Given the description of an element on the screen output the (x, y) to click on. 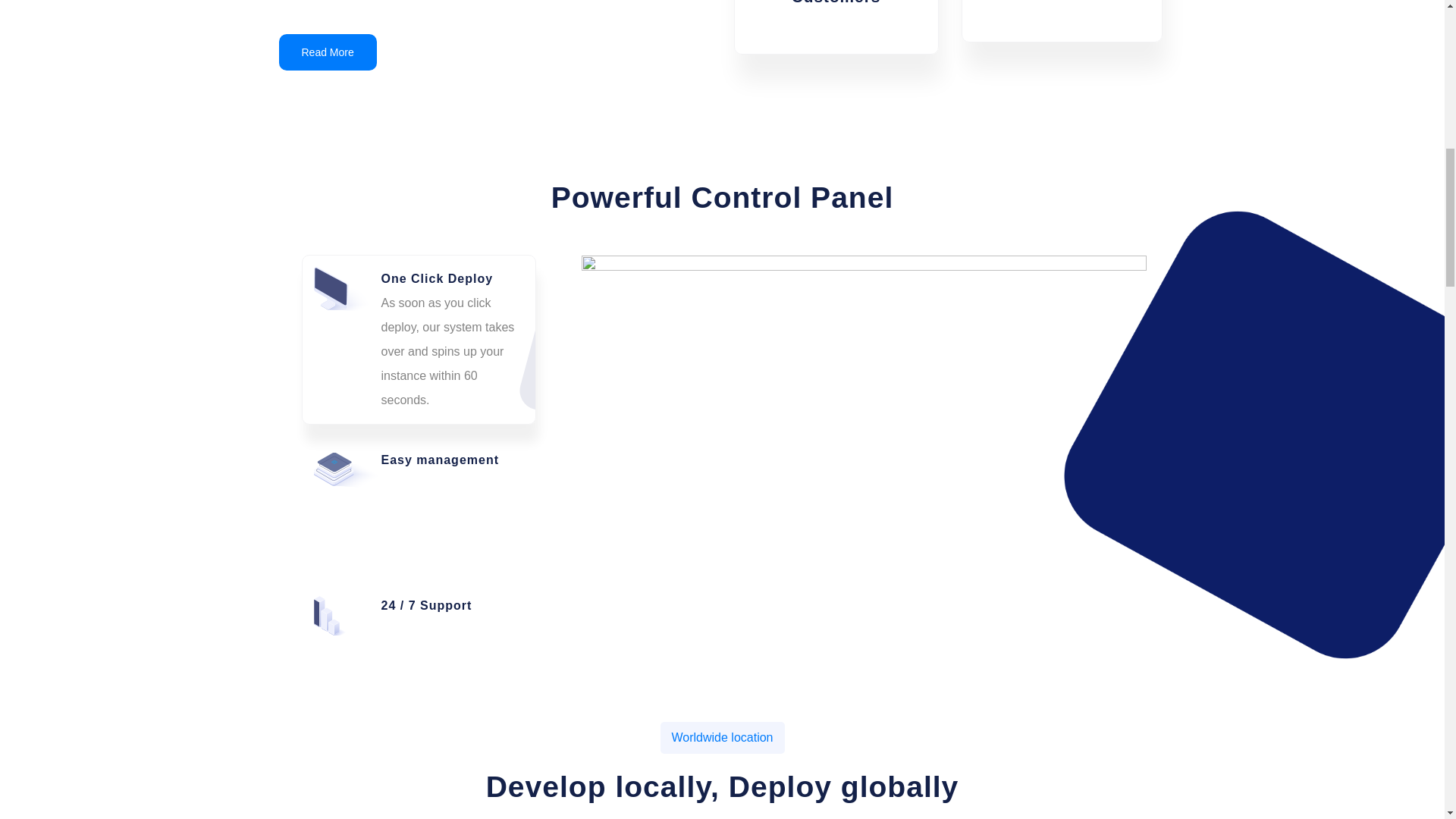
Read More (328, 51)
03.png (347, 469)
Easy management (419, 508)
04.png (347, 615)
01.png (347, 288)
